Given the description of an element on the screen output the (x, y) to click on. 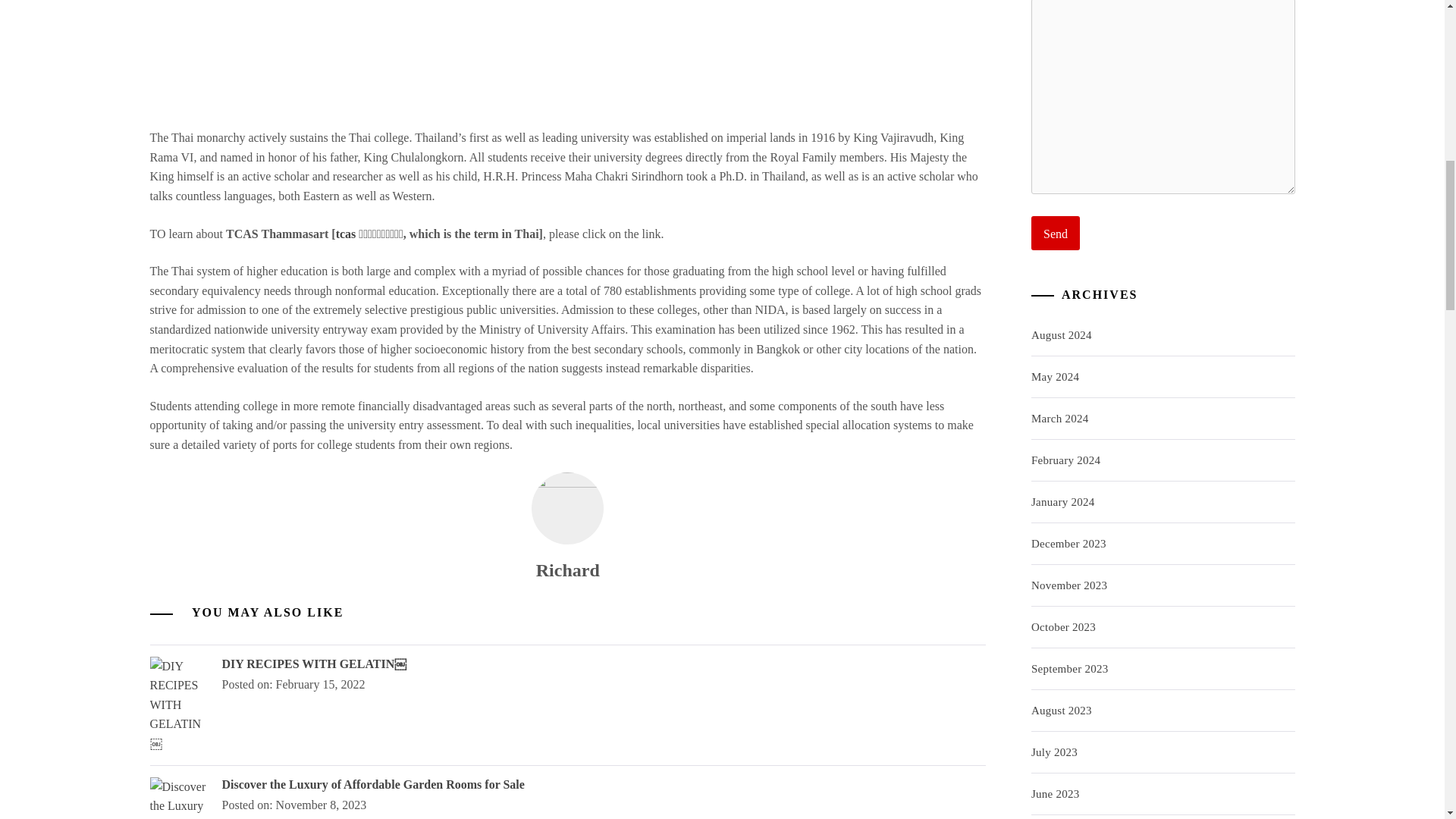
Send (1055, 233)
Discover the Luxury of Affordable Garden Rooms for Sale (372, 784)
August 2024 (1061, 335)
Send (1055, 233)
